Given the description of an element on the screen output the (x, y) to click on. 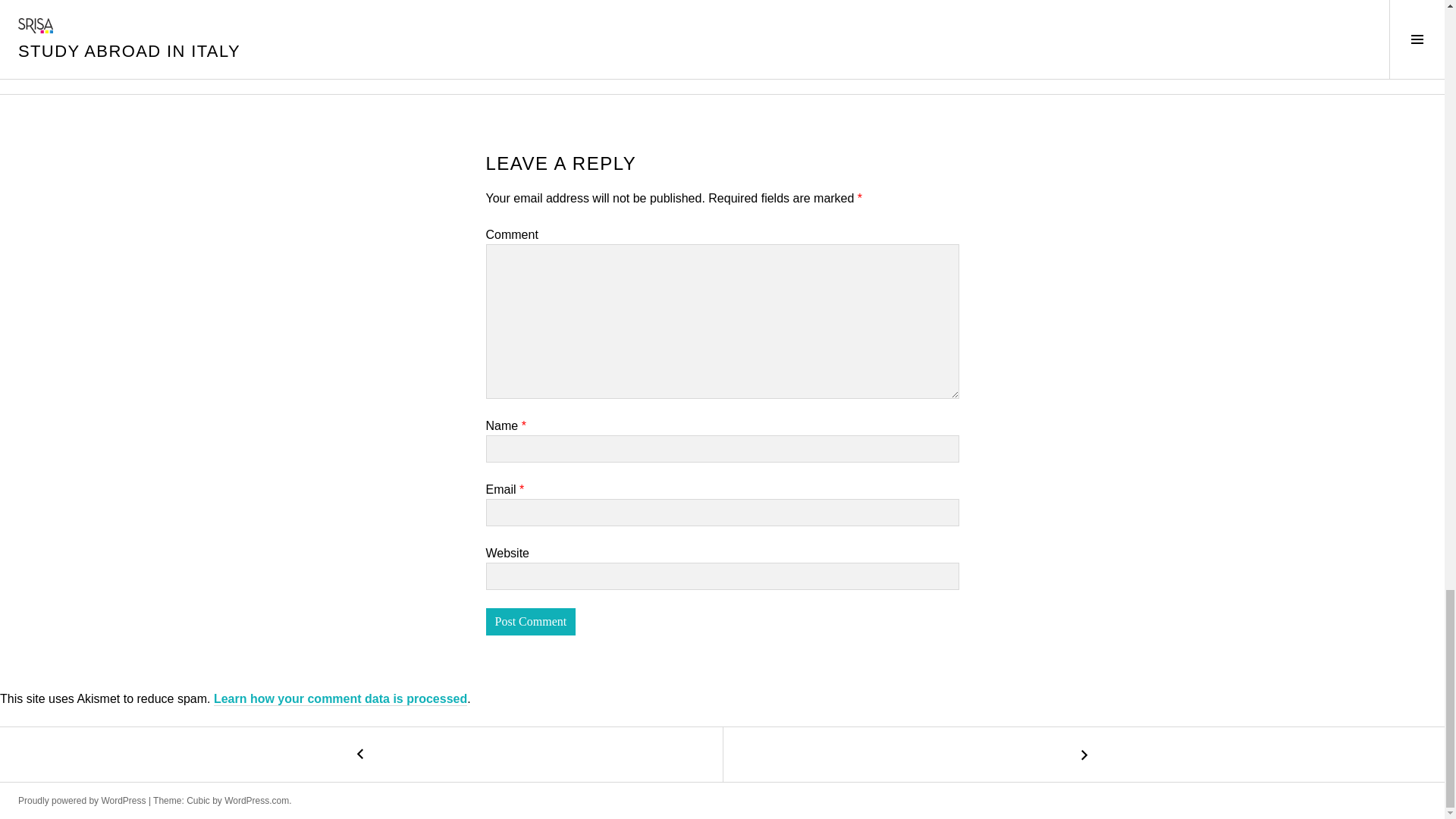
Learn how your comment data is processed (340, 698)
study abroad italy (686, 11)
Post Comment (529, 621)
art in florence (558, 11)
Post Comment (529, 621)
Leave a comment (529, 30)
 A Day At Giogalto (361, 754)
history (616, 11)
